Given the description of an element on the screen output the (x, y) to click on. 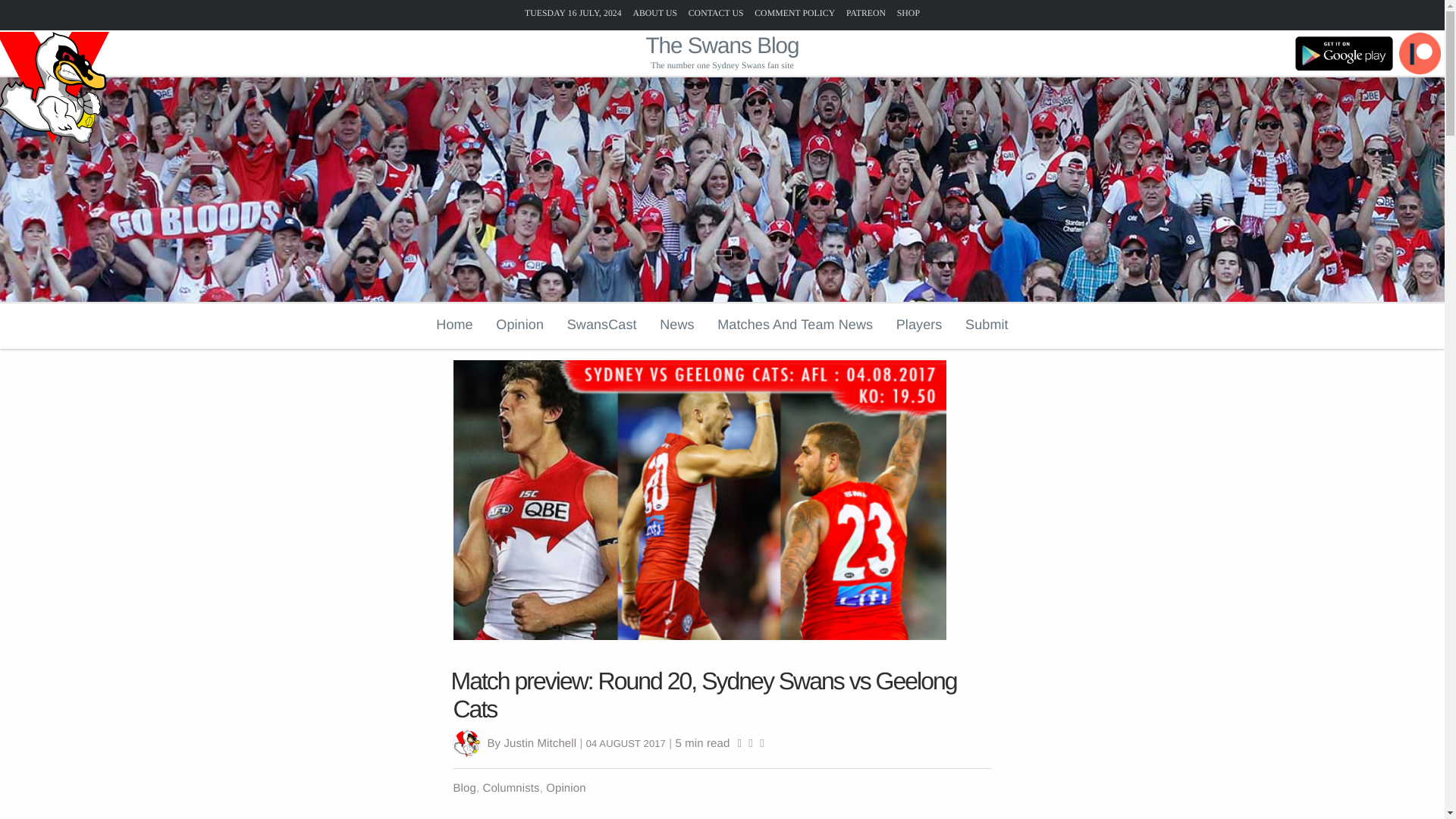
PATREON (865, 13)
Matches And Team News (794, 324)
CONTACT US (716, 13)
ABOUT US (654, 13)
SHOP (908, 13)
SwansCast (602, 324)
Opinion (519, 324)
COMMENT POLICY (794, 13)
